Given the description of an element on the screen output the (x, y) to click on. 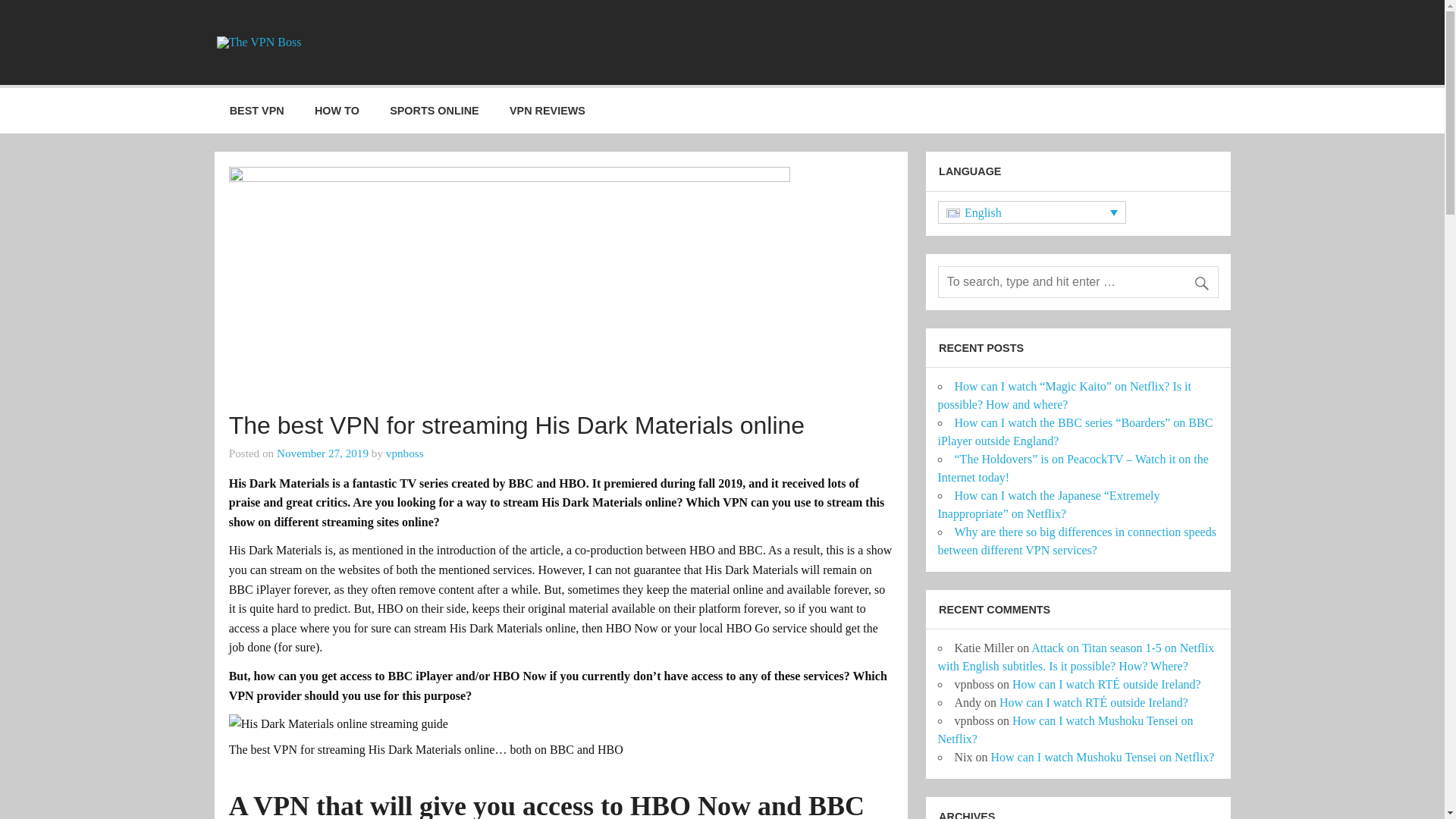
10:55 am (322, 452)
November 27, 2019 (322, 452)
BEST VPN (256, 110)
HOW TO (336, 110)
vpnboss (404, 452)
English (1031, 211)
SPORTS ONLINE (434, 110)
VPN REVIEWS (547, 110)
View all posts by vpnboss (404, 452)
The VPN Boss (418, 51)
